Given the description of an element on the screen output the (x, y) to click on. 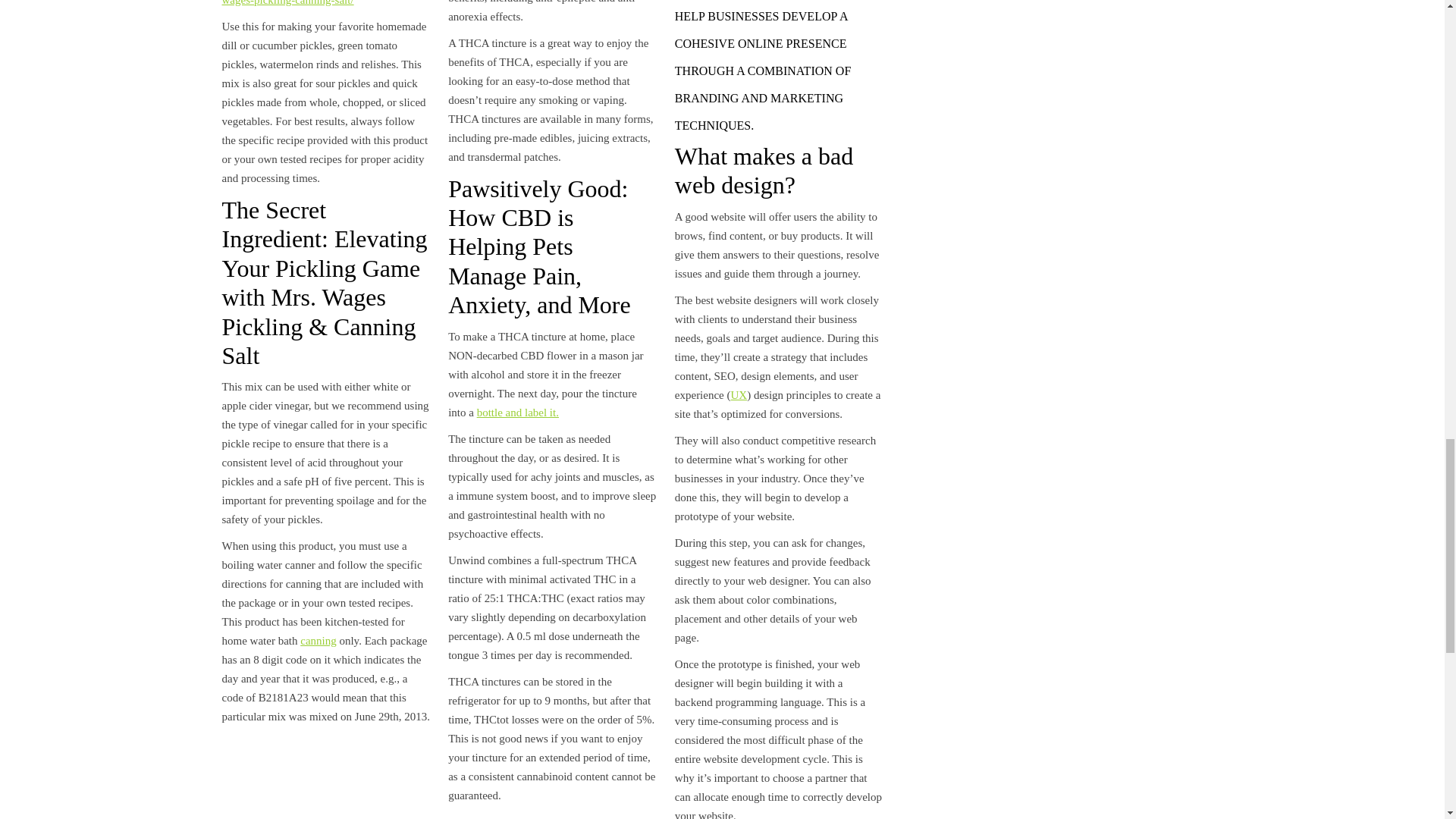
UX (739, 395)
bottle and label it. (518, 412)
canning (317, 640)
